Given the description of an element on the screen output the (x, y) to click on. 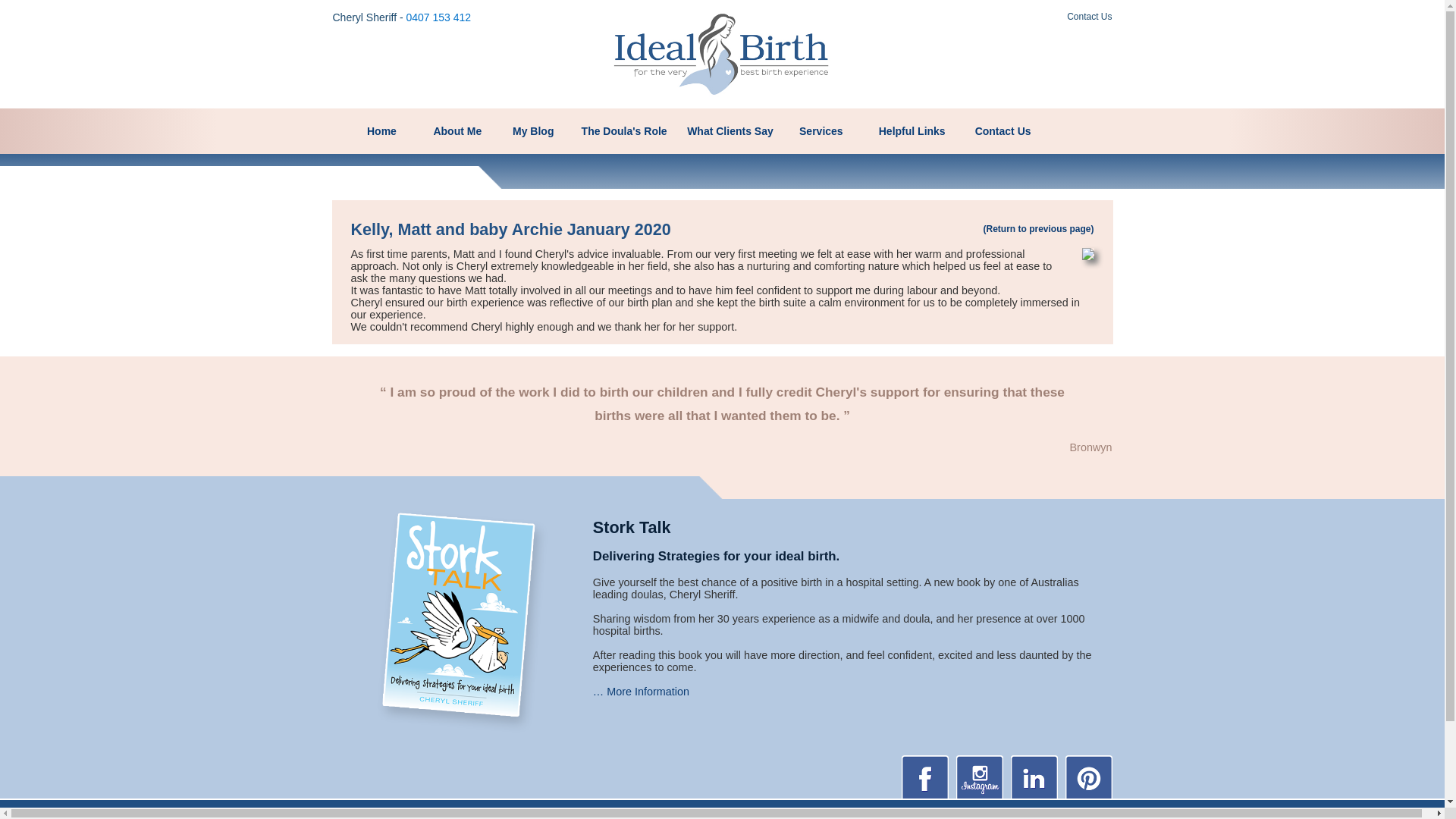
What Clients Say Element type: text (730, 130)
Contact Us Element type: text (1003, 130)
The Doula's Role Element type: text (624, 130)
My Blog Element type: text (533, 130)
Helpful Links Element type: text (912, 130)
Services Element type: text (821, 130)
(Return to previous page) Element type: text (1037, 228)
Home Element type: text (382, 130)
Contact Us Element type: text (1088, 16)
About Me Element type: text (457, 130)
